Given the description of an element on the screen output the (x, y) to click on. 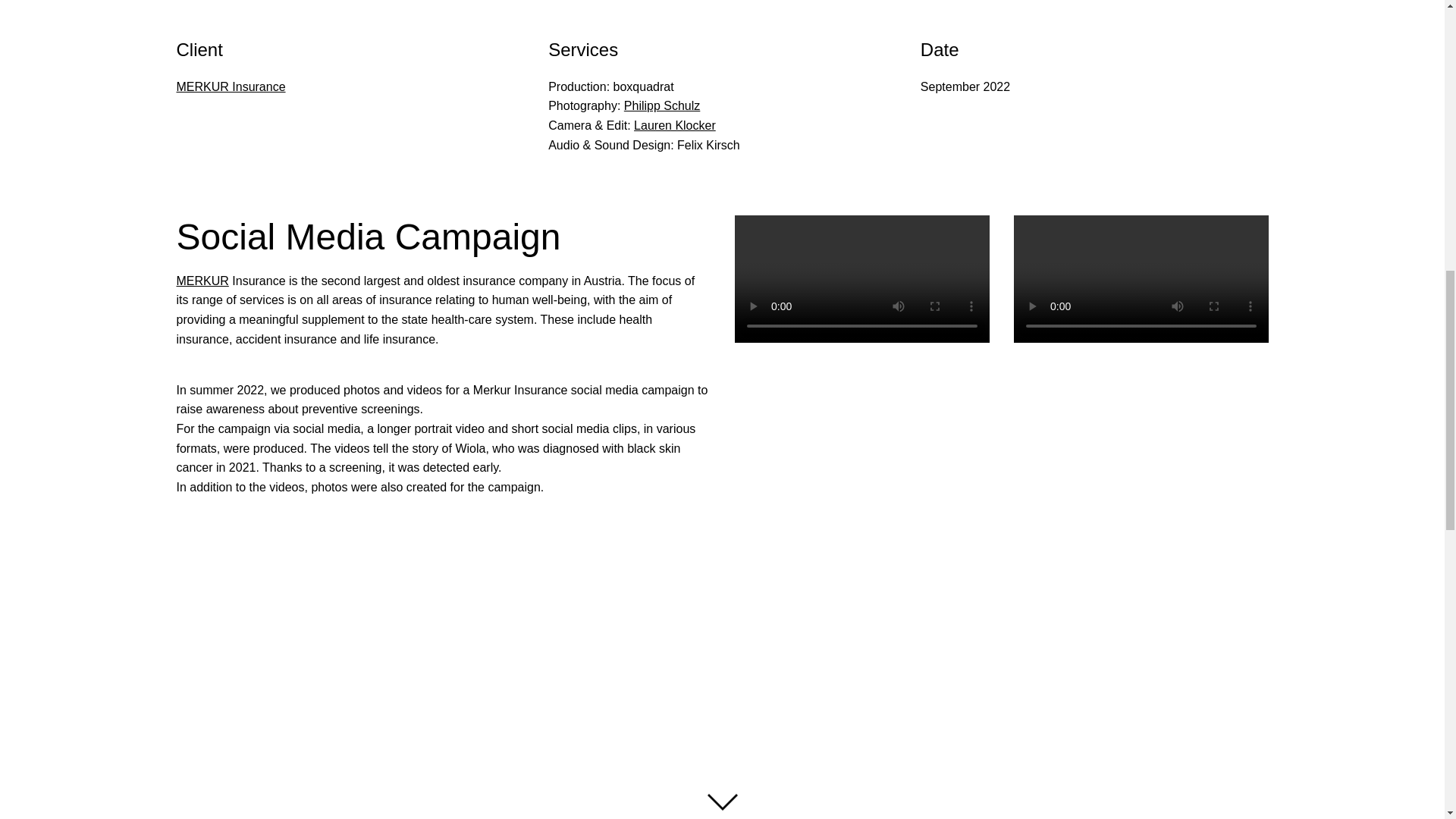
Lauren Klocker (674, 124)
Philipp Schulz (662, 105)
MERKUR (202, 280)
MERKUR Insurance (230, 86)
